Given the description of an element on the screen output the (x, y) to click on. 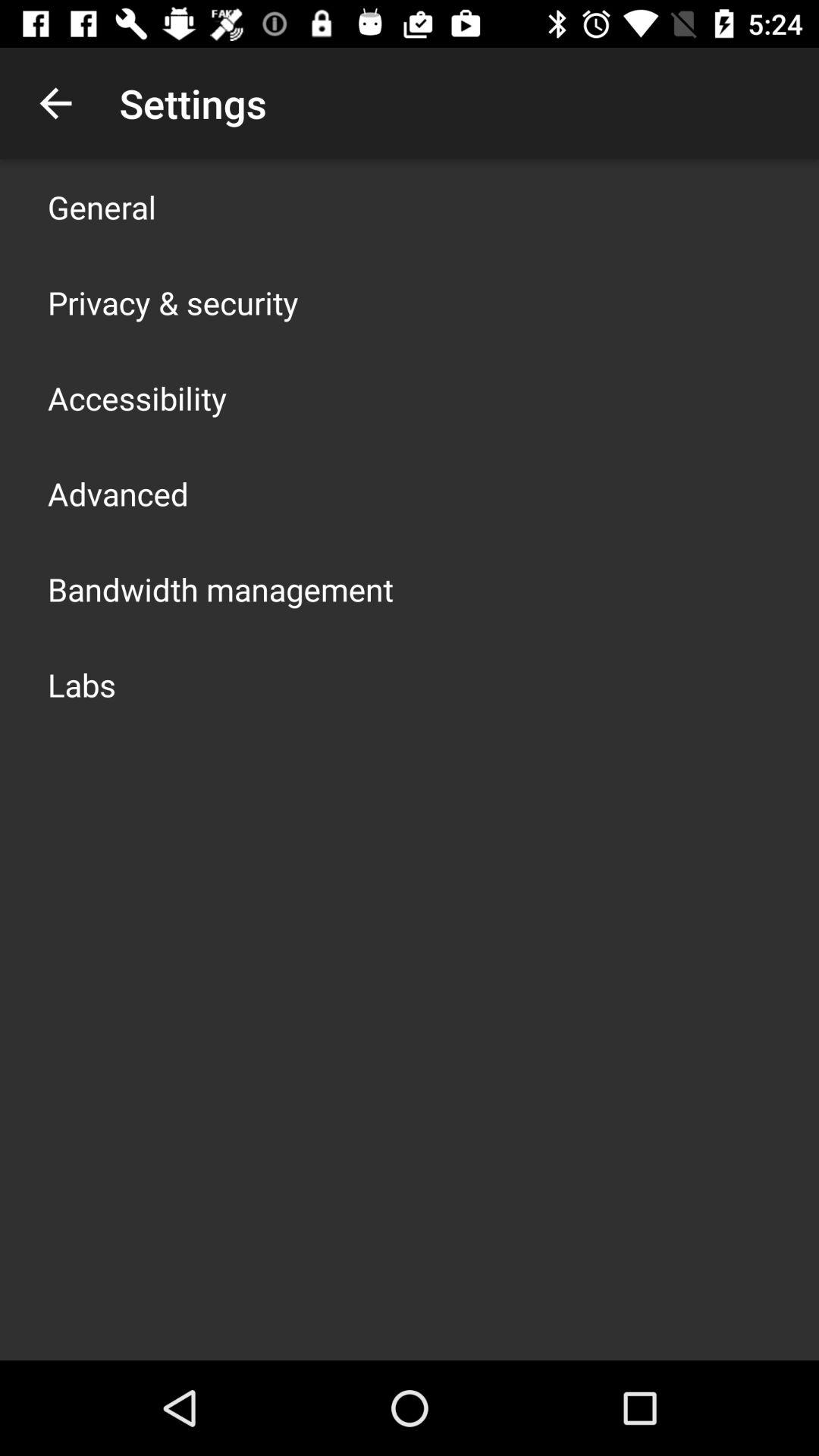
turn on item below privacy & security (136, 397)
